Given the description of an element on the screen output the (x, y) to click on. 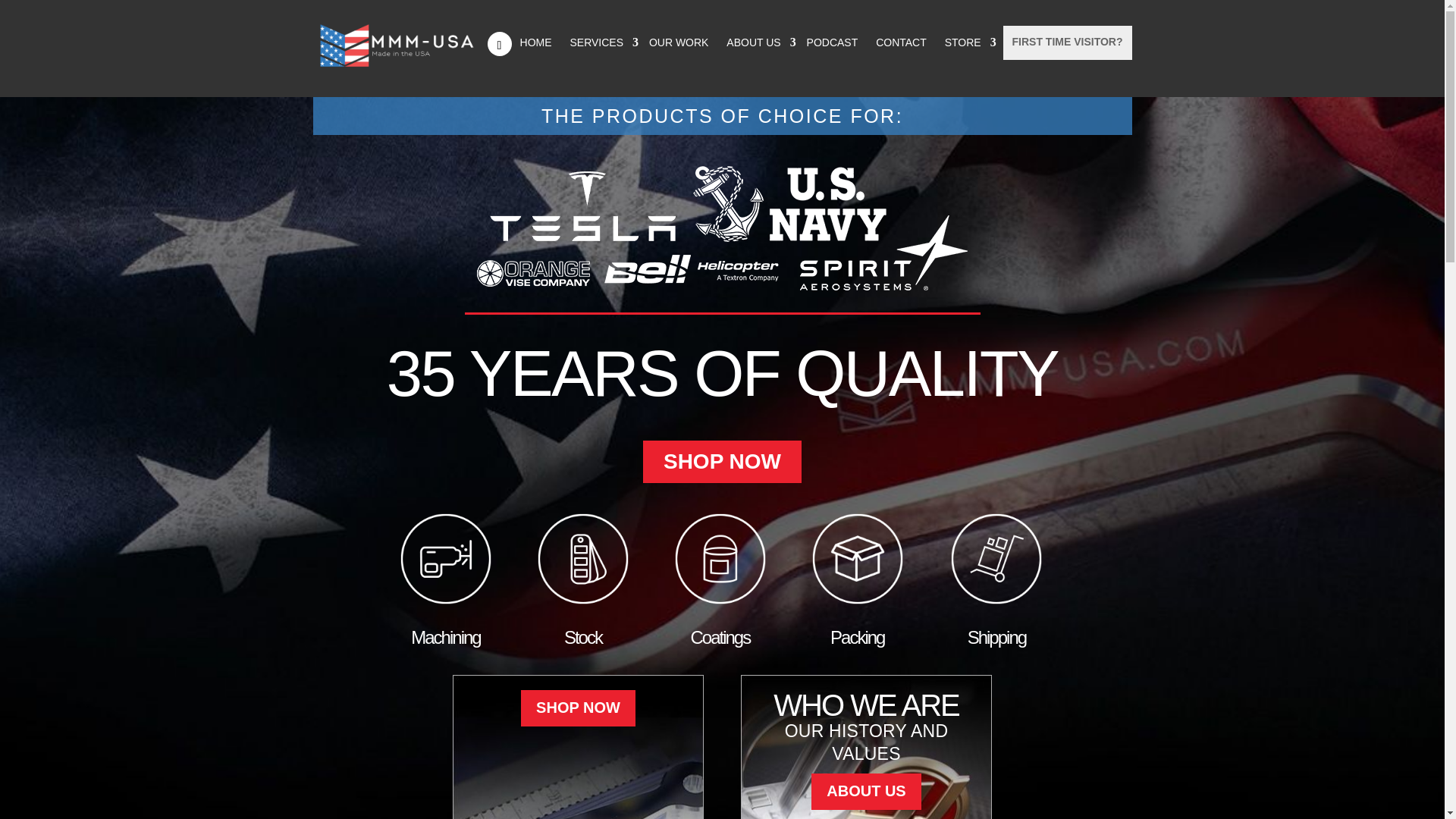
HOME (535, 41)
ABOUT US (756, 41)
CONTACT (900, 41)
ABOUT US (865, 791)
SHOP NOW (577, 708)
PODCAST (832, 41)
SHOP NOW (722, 461)
OUR WORK (679, 41)
SERVICES (600, 41)
STORE (966, 41)
